Given the description of an element on the screen output the (x, y) to click on. 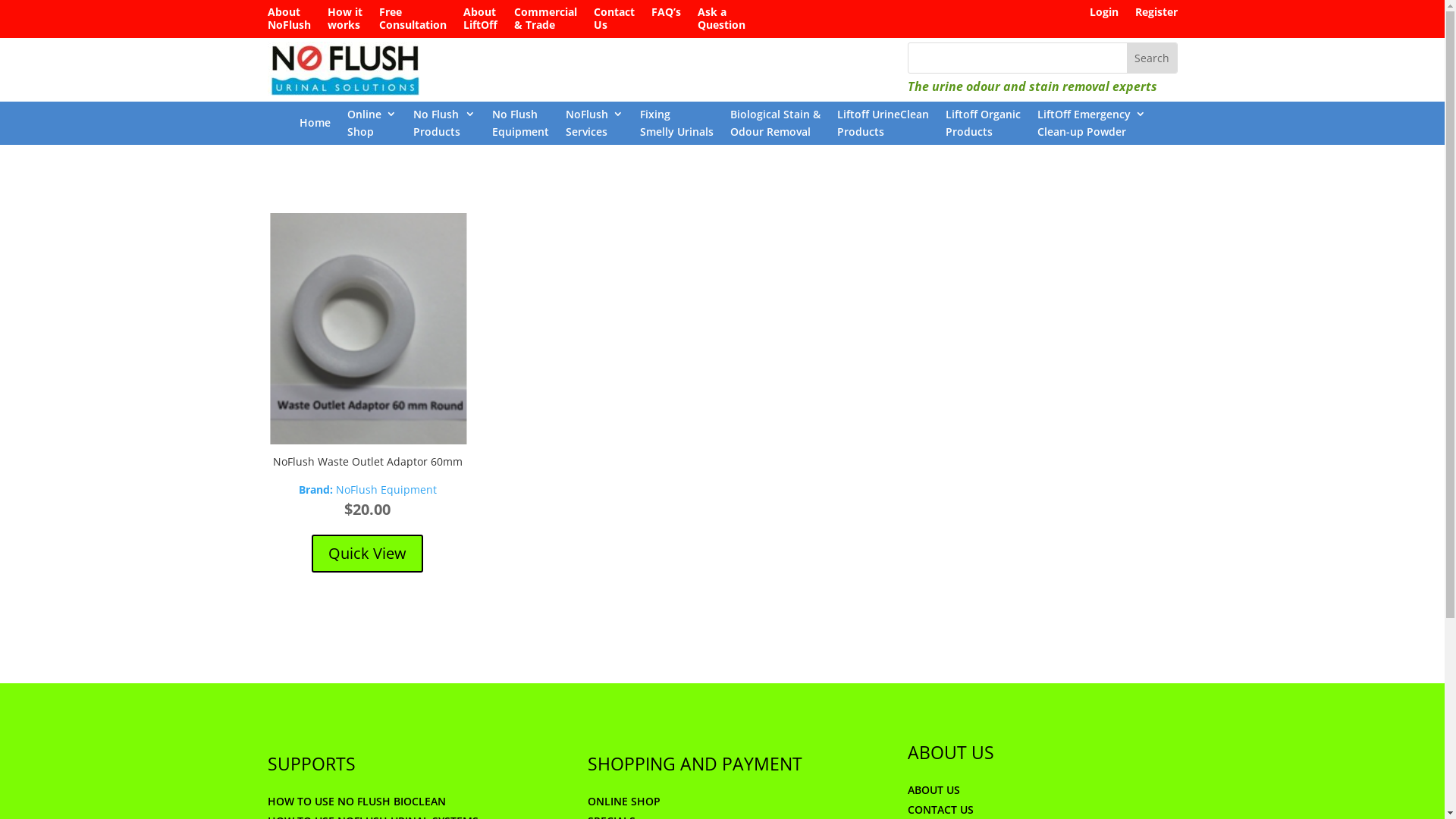
How it
works Element type: text (344, 21)
Contact
Us Element type: text (613, 21)
Home Element type: text (313, 125)
NoFlush Equipment Element type: text (385, 489)
Login Element type: text (1102, 15)
NoFlush
Services Element type: text (594, 125)
No Flush
Products Element type: text (443, 125)
Fixing
Smelly Urinals Element type: text (676, 125)
Liftoff Organic
Products Element type: text (981, 125)
No Flush
Equipment Element type: text (519, 125)
Register Element type: text (1155, 15)
Free
Consultation Element type: text (412, 21)
HOW TO USE NO FLUSH BIOCLEAN Element type: text (355, 800)
ABOUT US Element type: text (932, 789)
logo Element type: hover (342, 68)
Search Element type: text (1151, 57)
Liftoff UrineClean
Products Element type: text (882, 125)
Biological Stain &
Odour Removal Element type: text (774, 125)
LiftOff Emergency
Clean-up Powder Element type: text (1091, 125)
About
NoFlush Element type: text (288, 21)
ONLINE SHOP Element type: text (622, 800)
CONTACT US Element type: text (939, 809)
Commercial
& Trade Element type: text (545, 21)
Quick View Element type: text (367, 553)
Online
Shop Element type: text (371, 125)
About
LiftOff Element type: text (479, 21)
Ask a
Question Element type: text (721, 21)
